Given the description of an element on the screen output the (x, y) to click on. 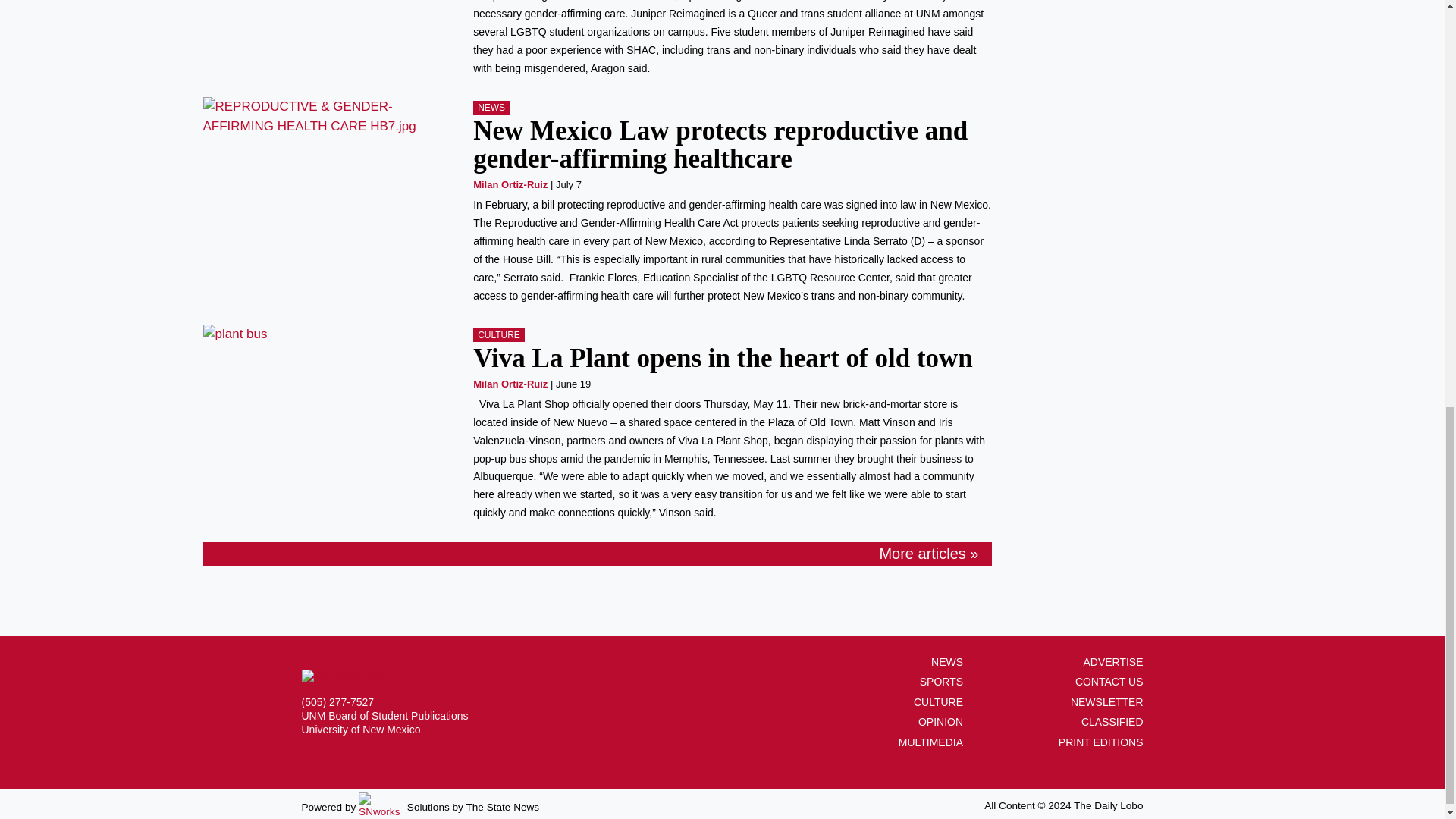
 Viva La Plant opens in the heart of old town  (722, 358)
 Viva La Plant opens in the heart of old town  (327, 333)
